Given the description of an element on the screen output the (x, y) to click on. 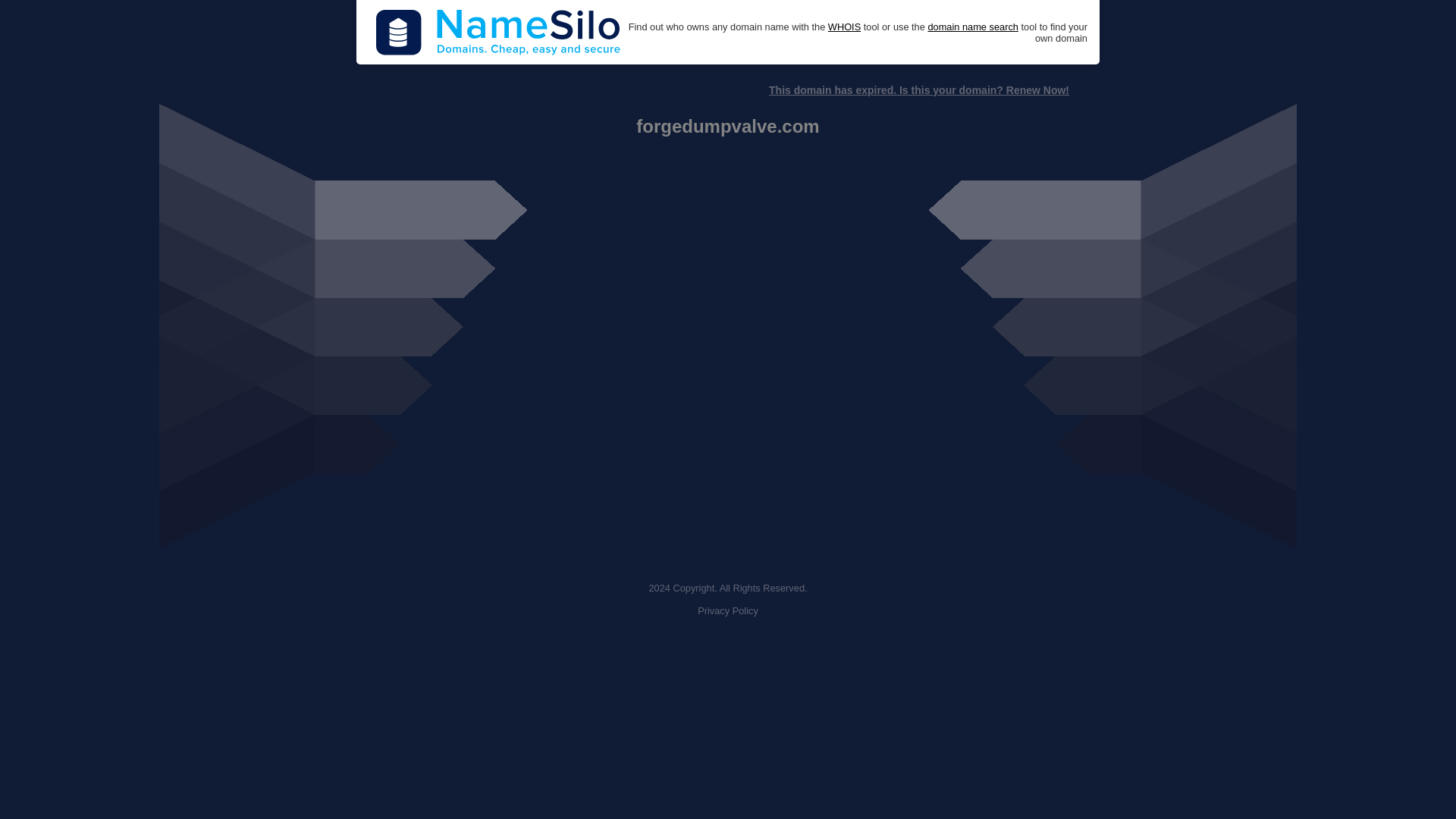
WHOIS (844, 26)
domain name search (972, 26)
This domain has expired. Is this your domain? Renew Now! (918, 90)
Privacy Policy (727, 610)
